Given the description of an element on the screen output the (x, y) to click on. 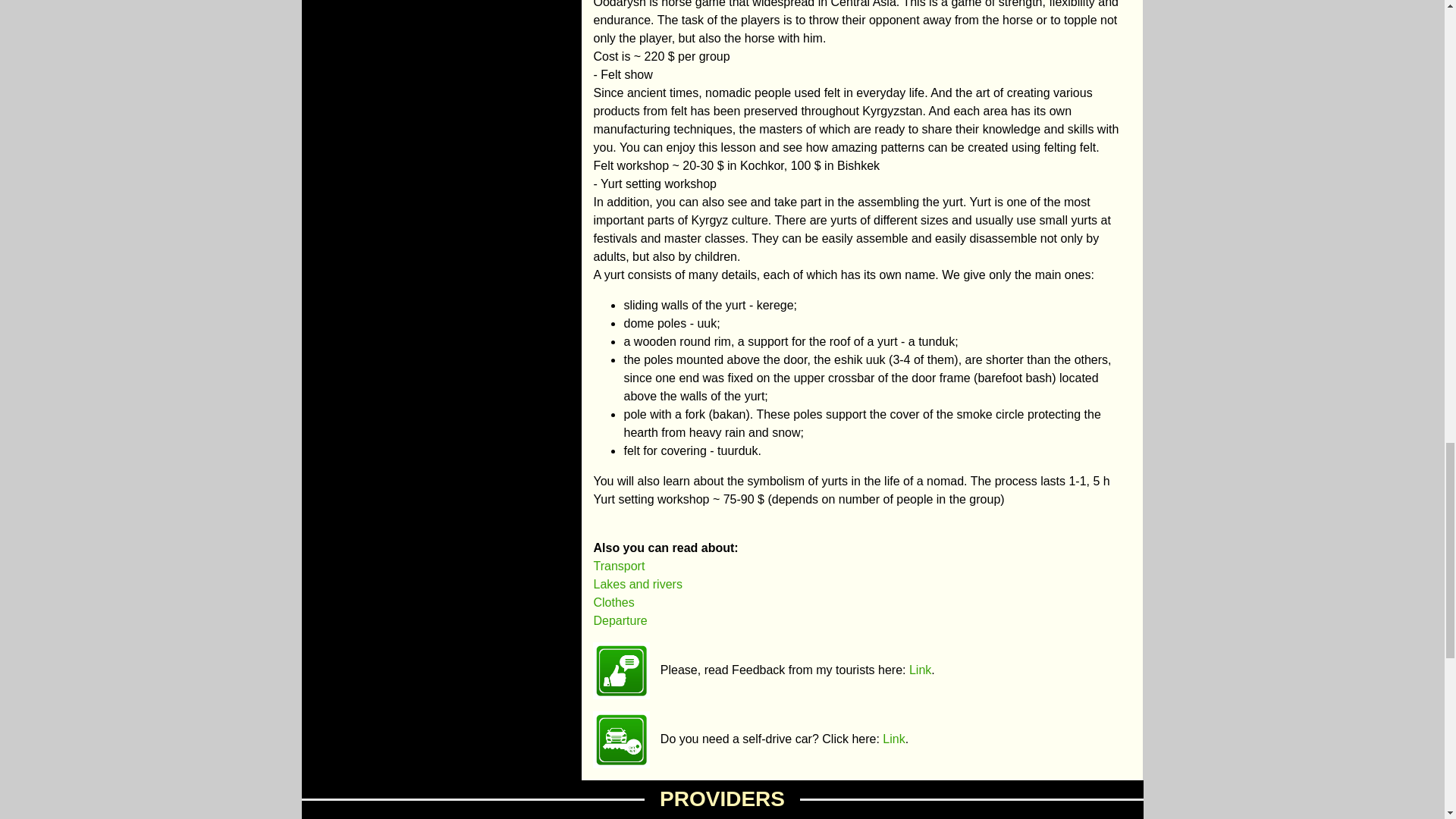
Link (893, 738)
Clothes (612, 602)
Link (919, 669)
Departure (619, 620)
Transport (618, 565)
Lakes and rivers (636, 584)
